Given the description of an element on the screen output the (x, y) to click on. 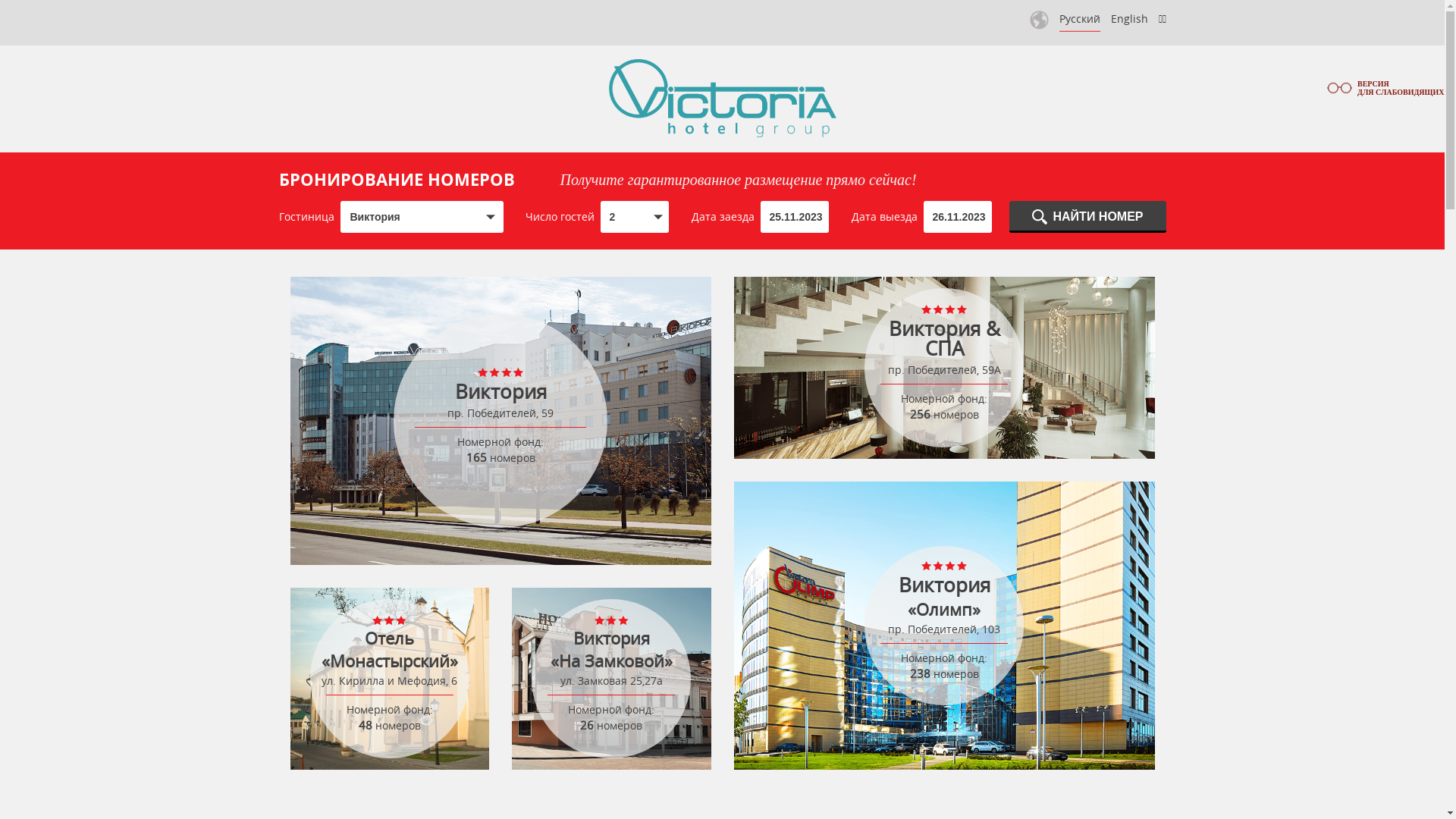
English Element type: text (1128, 18)
